Given the description of an element on the screen output the (x, y) to click on. 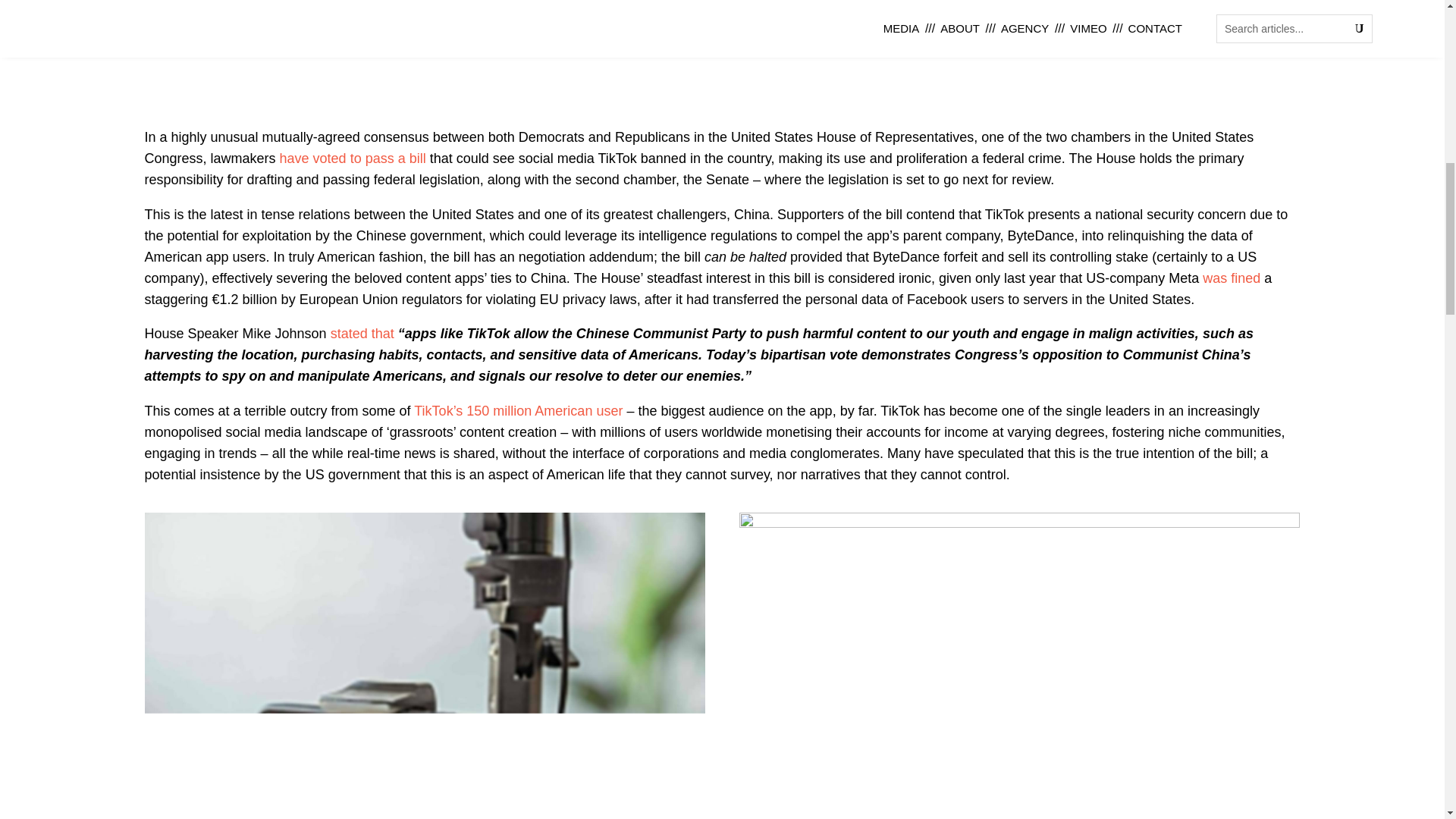
TikTok photographed by Cottonbro Studio, via Pexels (1019, 522)
was fined (1231, 278)
stated that (362, 333)
have voted to pass a bill (352, 158)
